Given the description of an element on the screen output the (x, y) to click on. 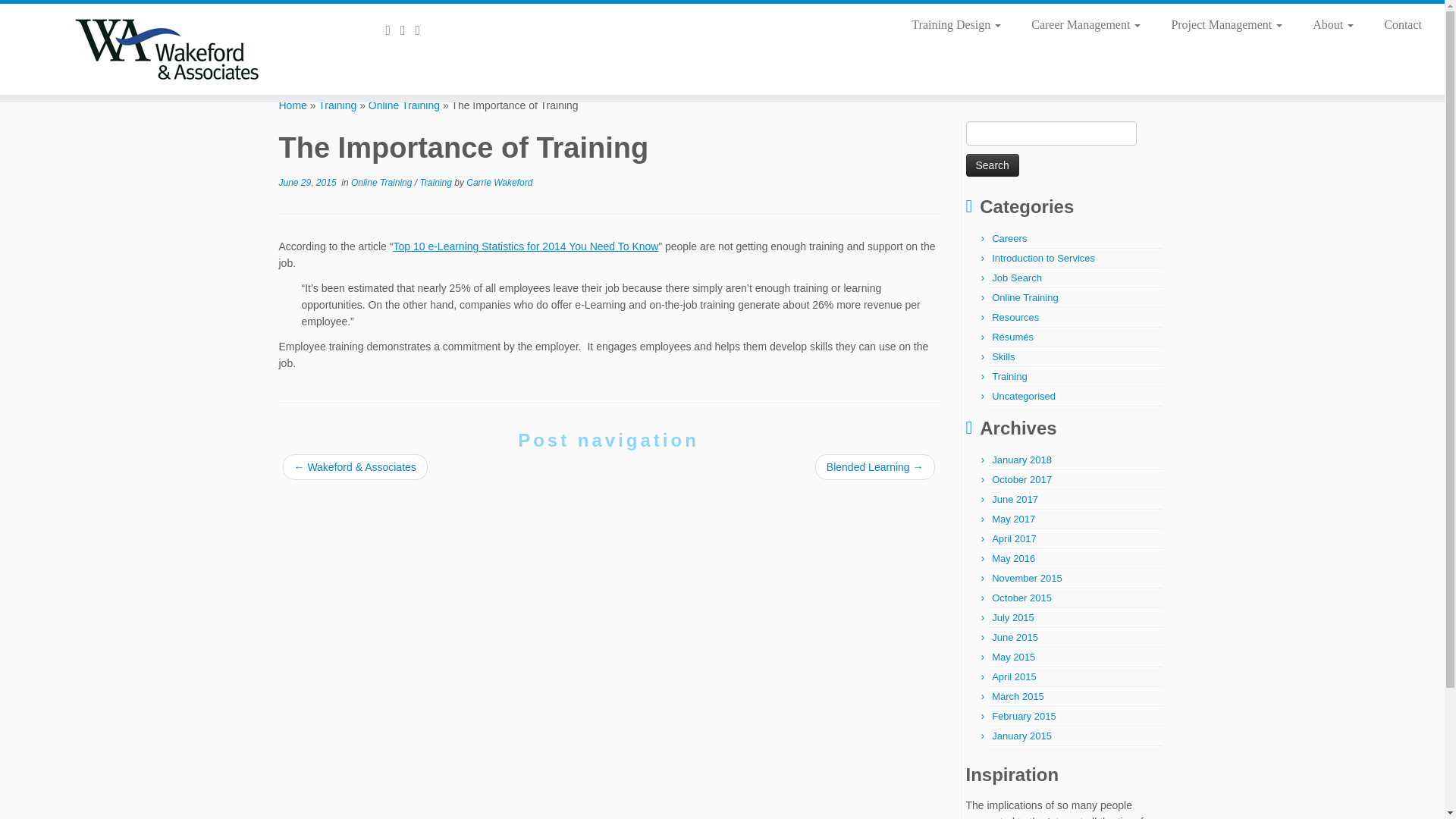
View all posts in Online Training (382, 182)
Training (337, 105)
Carrie Wakeford (498, 182)
Home (293, 105)
Subscribe to my rss feed (392, 29)
Online Training (403, 105)
Project Management (1226, 24)
Skills (1002, 356)
June 29, 2015 (307, 182)
Search (992, 164)
Top 10 e-Learning Statistics for 2014 You Need To Know (525, 246)
Follow me on Twitter (407, 29)
Introduction to Services (1042, 257)
Contact (1395, 24)
Training (337, 105)
